Given the description of an element on the screen output the (x, y) to click on. 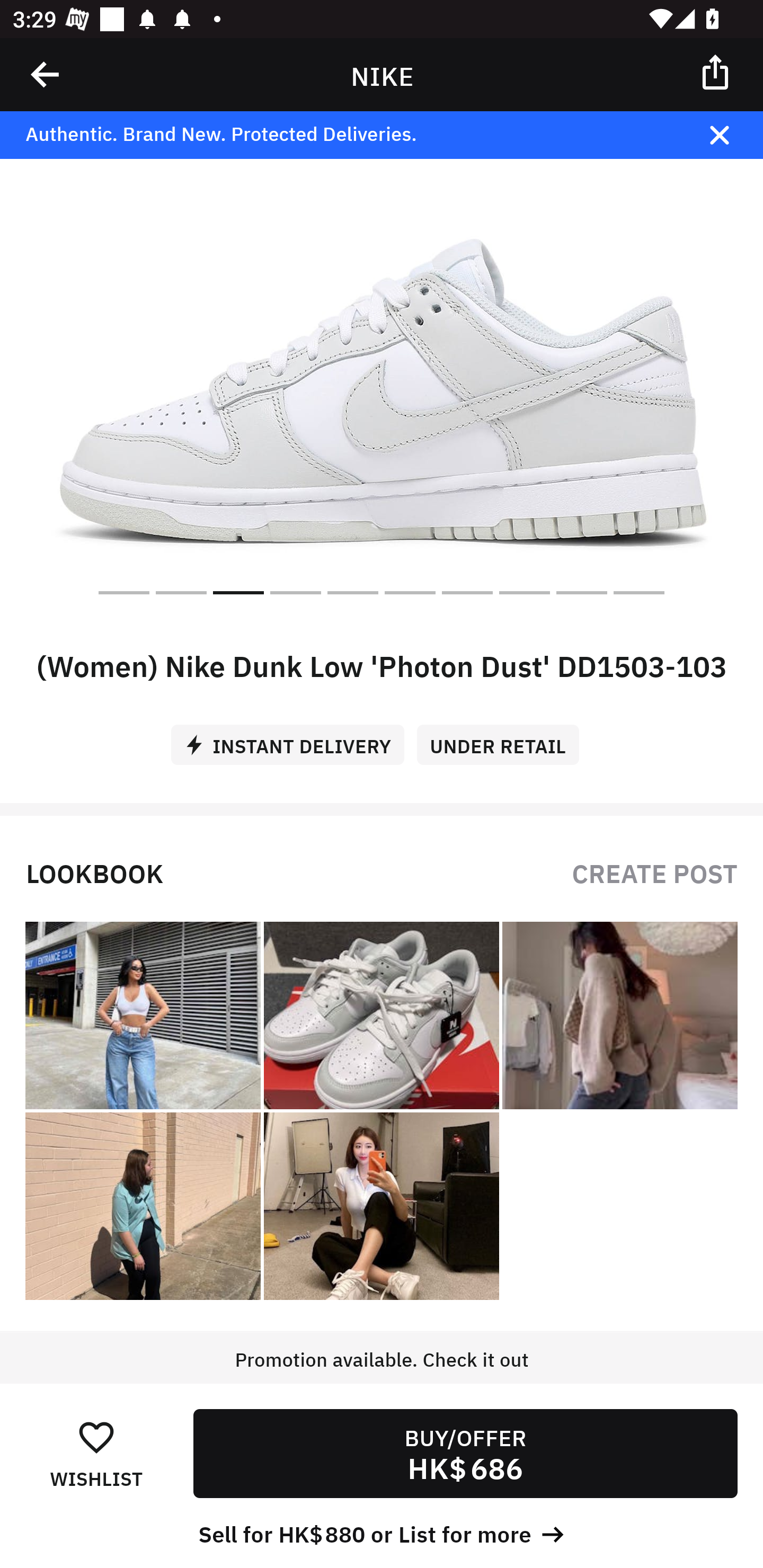
 (46, 74)
 (716, 70)
Authentic. Brand New. Protected Deliveries. (350, 134)
 (732, 134)
 INSTANT DELIVERY (293, 738)
UNDER RETAIL (504, 738)
CREATE POST (654, 872)
Promotion available. Check it out (381, 1377)
BUY/OFFER HK$ 686 (465, 1453)
󰋕 (95, 1435)
Sell for HK$ 880 or List for more (381, 1532)
